Given the description of an element on the screen output the (x, y) to click on. 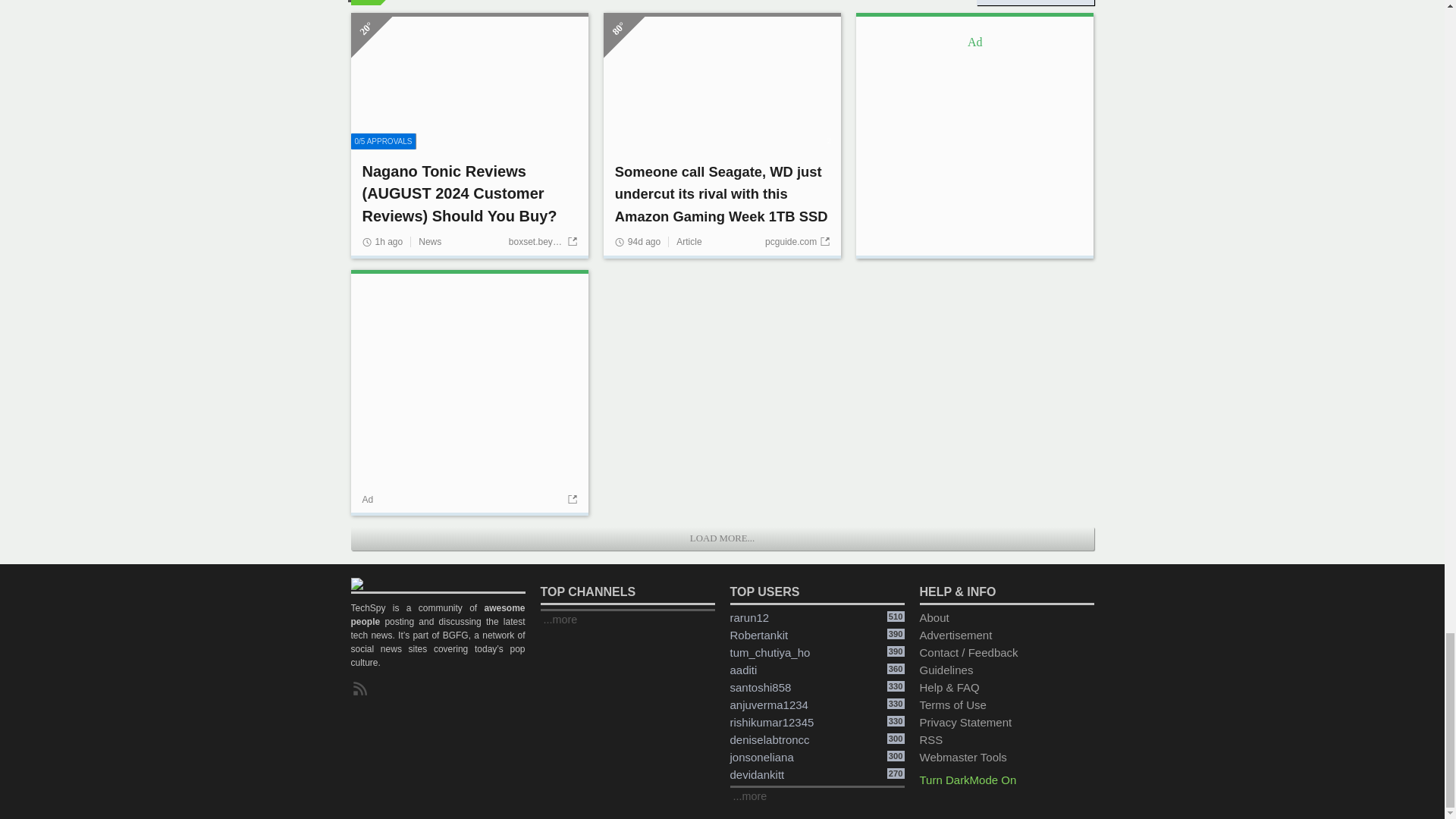
RSS Feed (362, 689)
Go to source: boxset.beyonce.com (542, 241)
Go to source: pcguide.com (797, 241)
Go to source (570, 499)
